Given the description of an element on the screen output the (x, y) to click on. 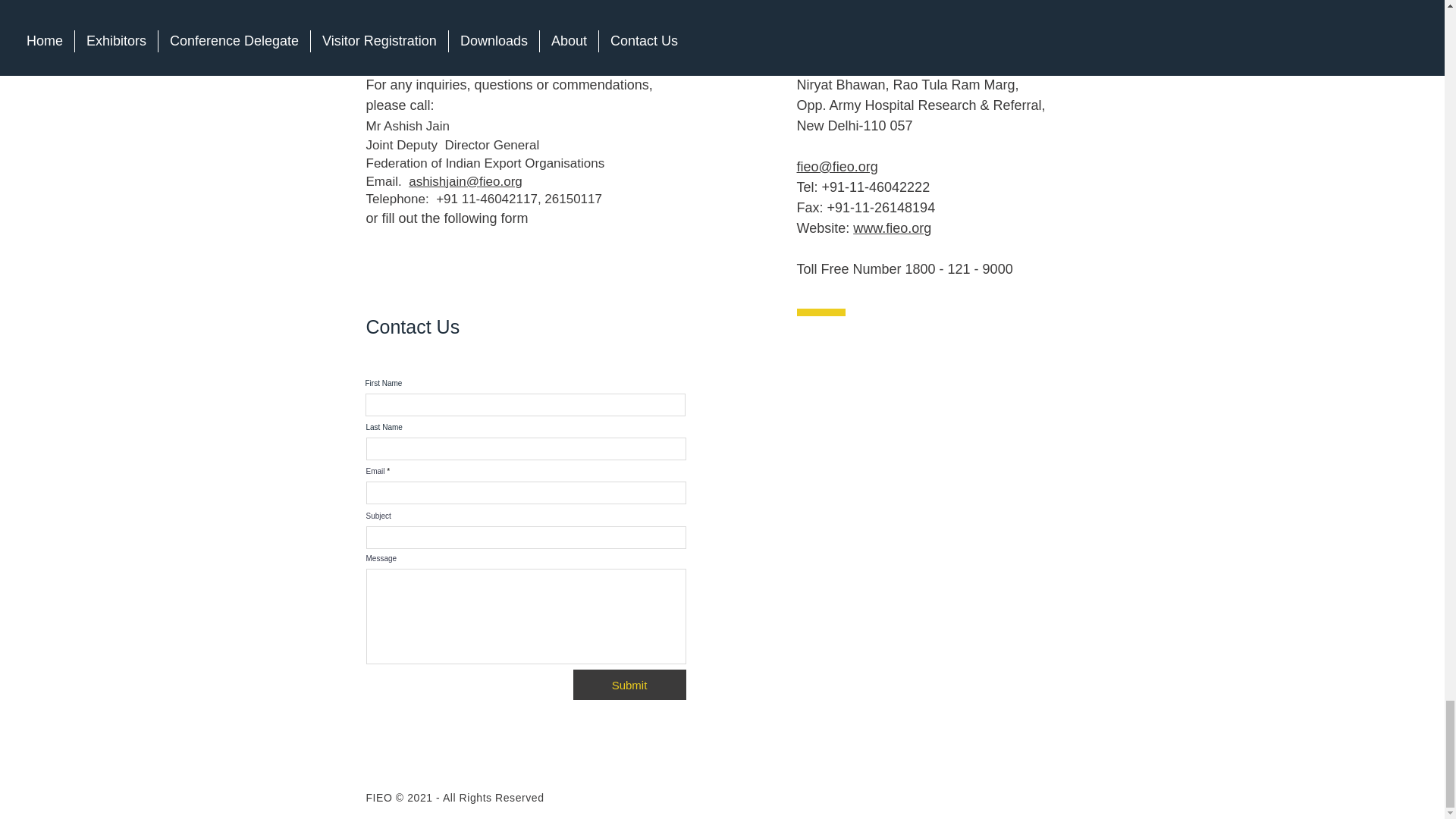
www.fieo.org (892, 227)
Submit (629, 684)
